Given the description of an element on the screen output the (x, y) to click on. 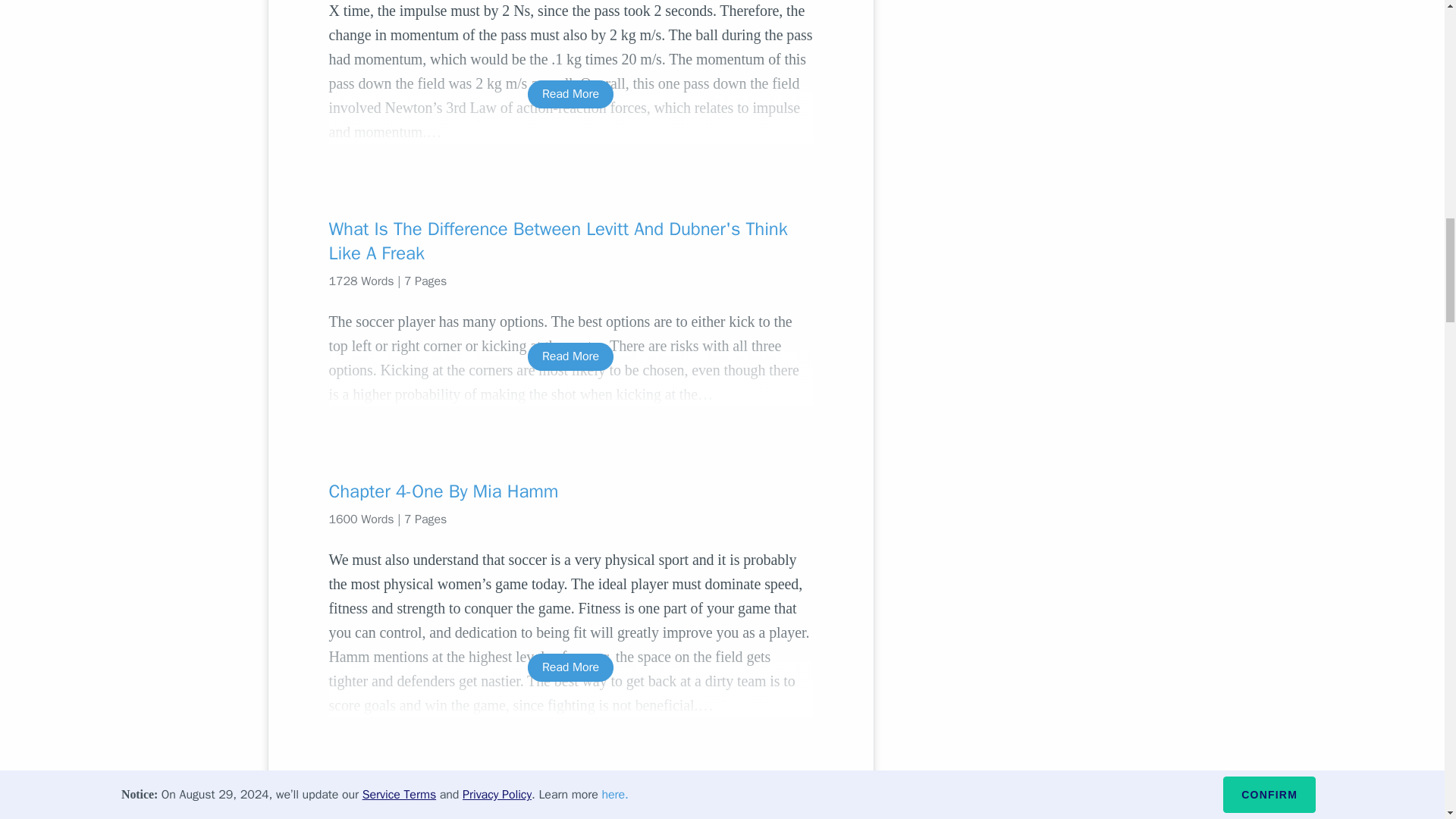
Read More (569, 94)
Read More (569, 667)
Comparing The Math Of Baseball And Softball (570, 802)
Read More (569, 357)
Chapter 4-One By Mia Hamm (570, 491)
